Given the description of an element on the screen output the (x, y) to click on. 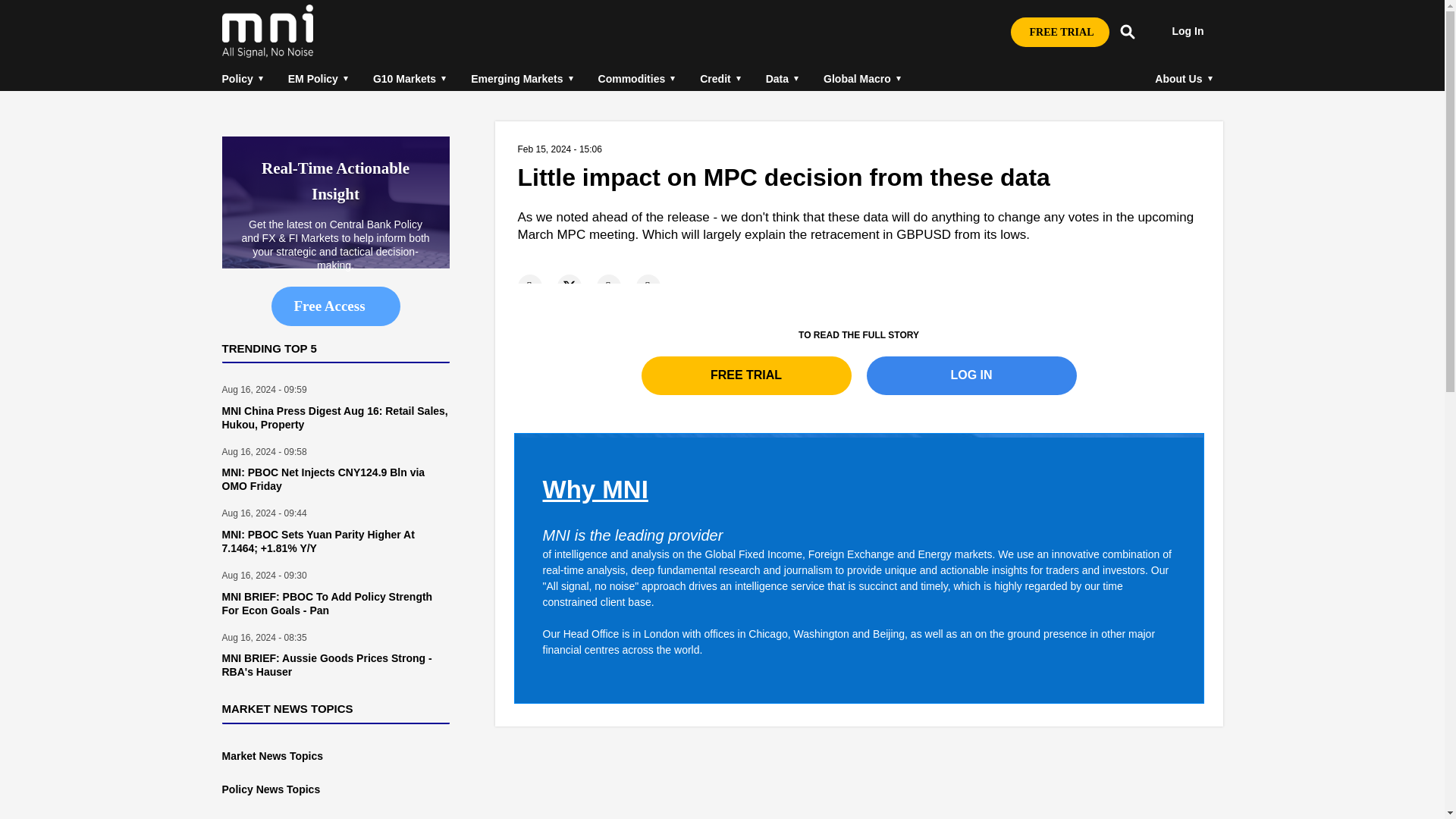
Policy Market News (270, 788)
Market News Calendars (261, 818)
Market News Topics (272, 756)
